Given the description of an element on the screen output the (x, y) to click on. 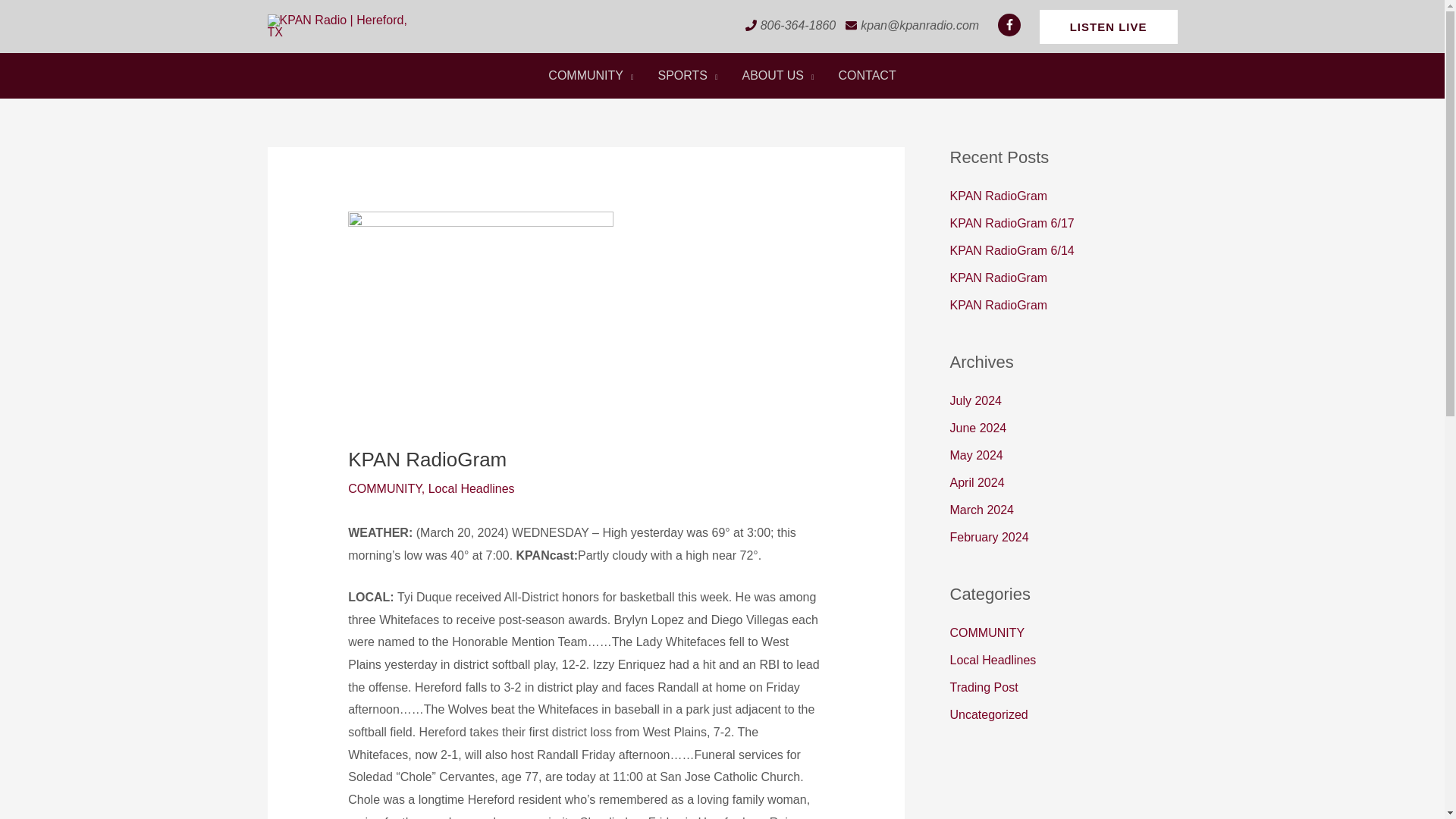
ABOUT US (778, 75)
LISTEN LIVE (1108, 26)
COMMUNITY (590, 75)
SPORTS (688, 75)
806-364-1860 (797, 24)
CONTACT (867, 75)
